Given the description of an element on the screen output the (x, y) to click on. 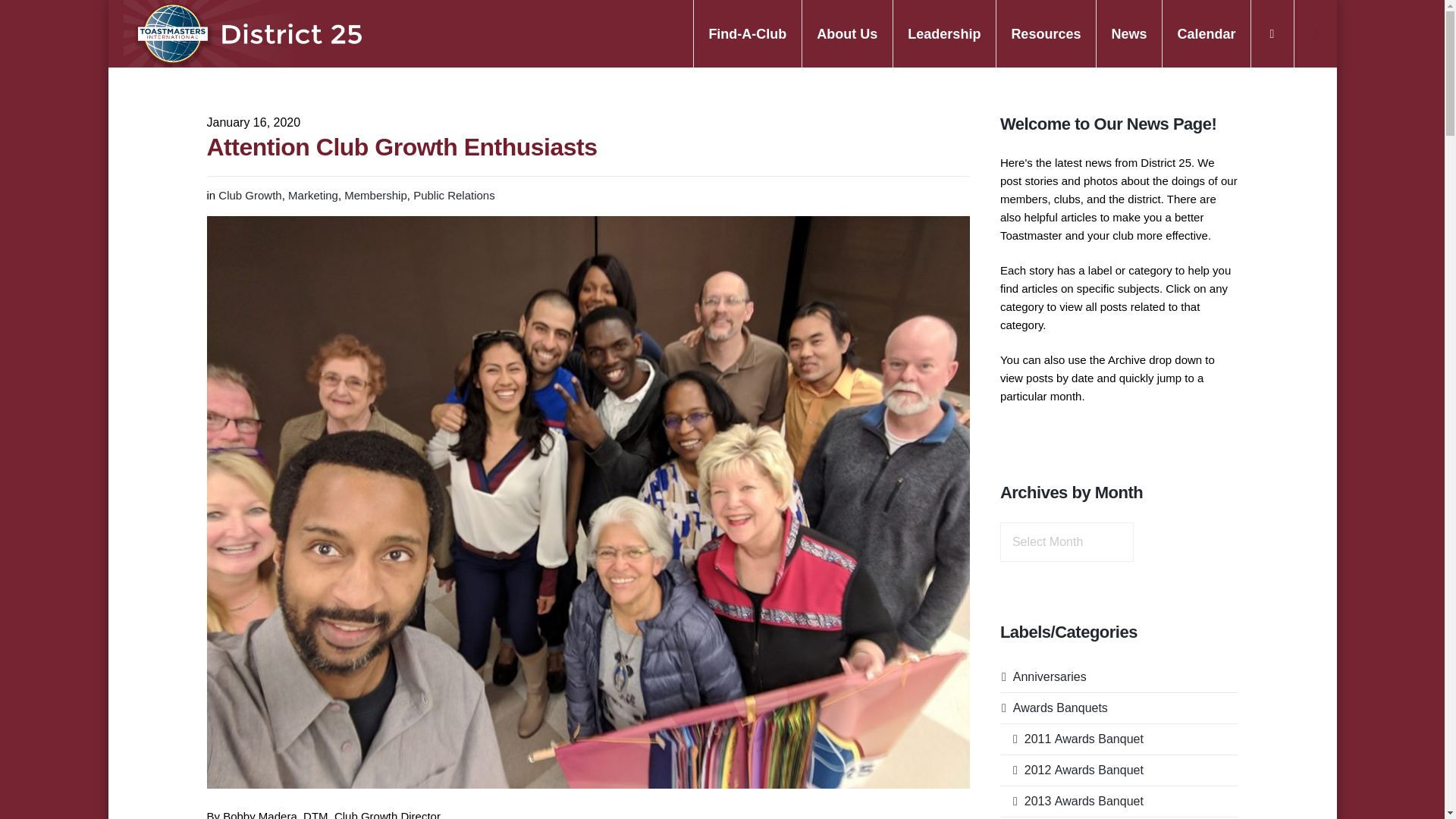
Leadership (943, 33)
2011 Awards Banquet (1071, 738)
2014 Awards Banquet (1071, 818)
Calendar (1205, 33)
Marketing (312, 195)
2012 Awards Banquet (1071, 770)
About Us (847, 33)
Club Growth (249, 195)
News (1128, 33)
